Given the description of an element on the screen output the (x, y) to click on. 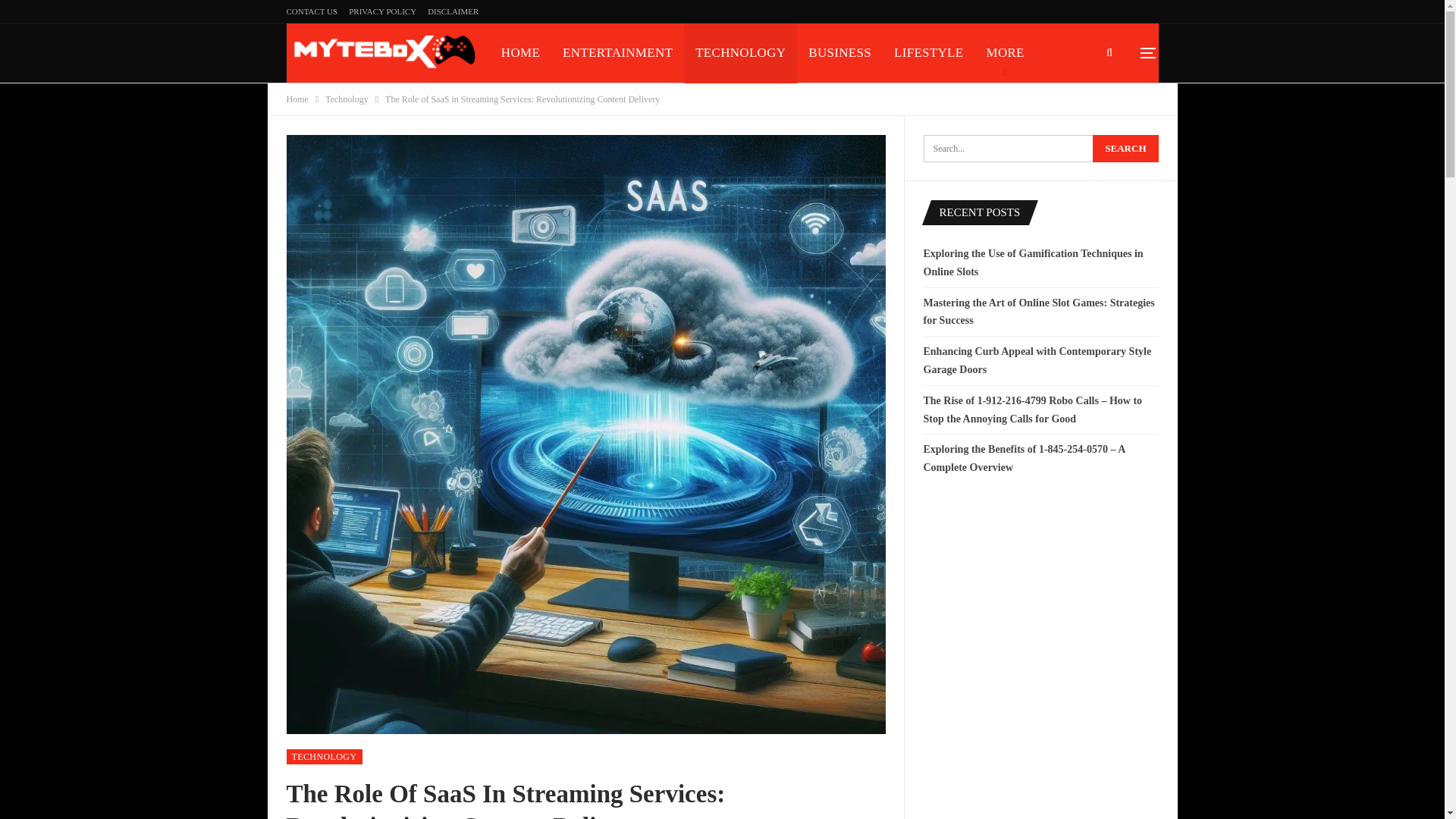
TECHNOLOGY (324, 756)
HOME (520, 52)
DISCLAIMER (453, 10)
CONTACT US (311, 10)
Search (1125, 148)
BUSINESS (839, 52)
TECHNOLOGY (740, 52)
ENTERTAINMENT (617, 52)
MORE (1004, 52)
LIFESTYLE (928, 52)
